Given the description of an element on the screen output the (x, y) to click on. 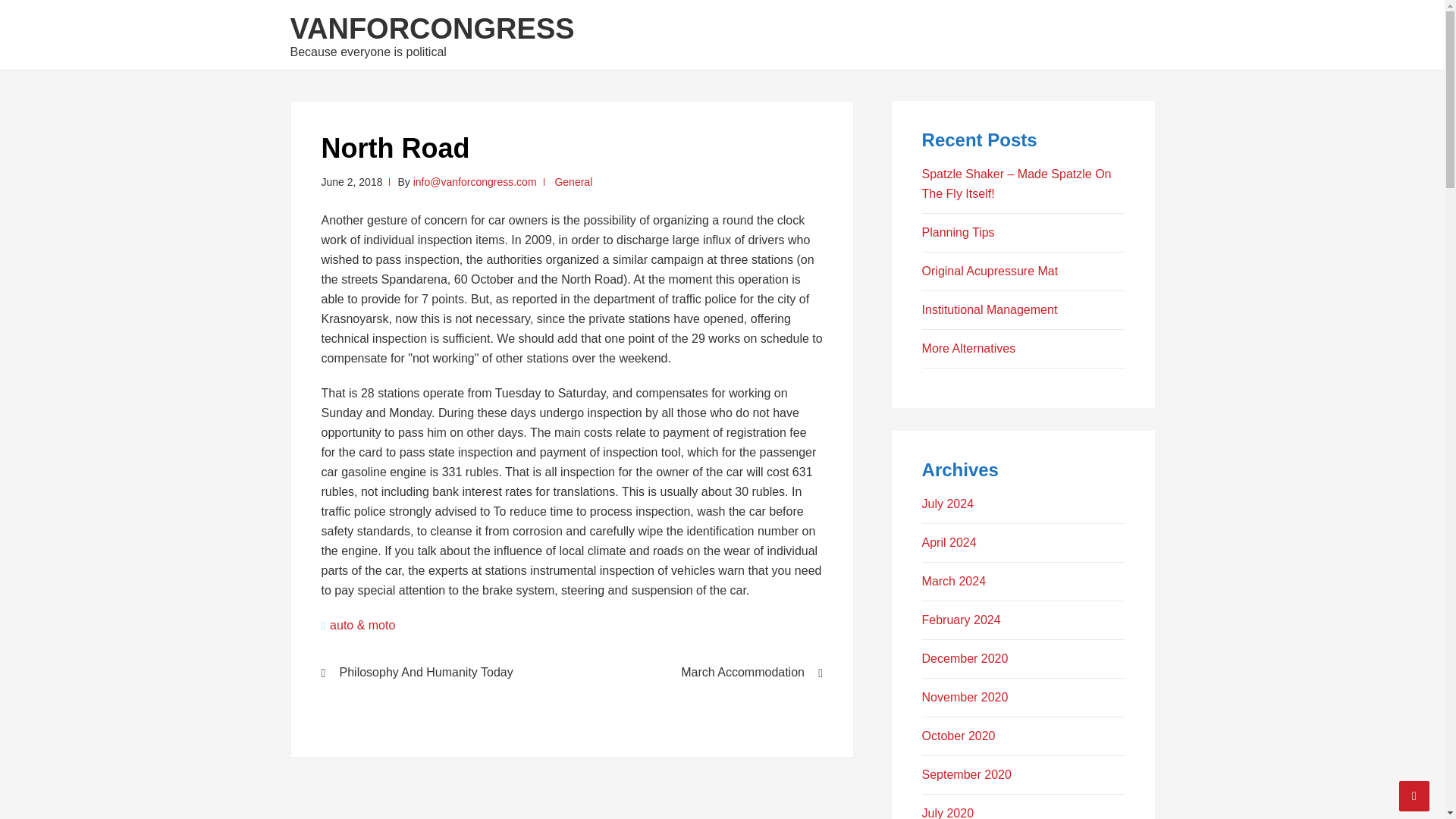
Institutional Management (989, 309)
December 2020 (965, 658)
March 2024 (954, 581)
September 2020 (966, 774)
April 2024 (948, 542)
March Accommodation (707, 672)
Philosophy And Humanity Today (436, 672)
July 2024 (947, 503)
February 2024 (961, 619)
July 2020 (947, 812)
November 2020 (965, 697)
Original Acupressure Mat (989, 270)
VANFORCONGRESS (431, 29)
More Alternatives (968, 348)
Planning Tips (957, 232)
